Given the description of an element on the screen output the (x, y) to click on. 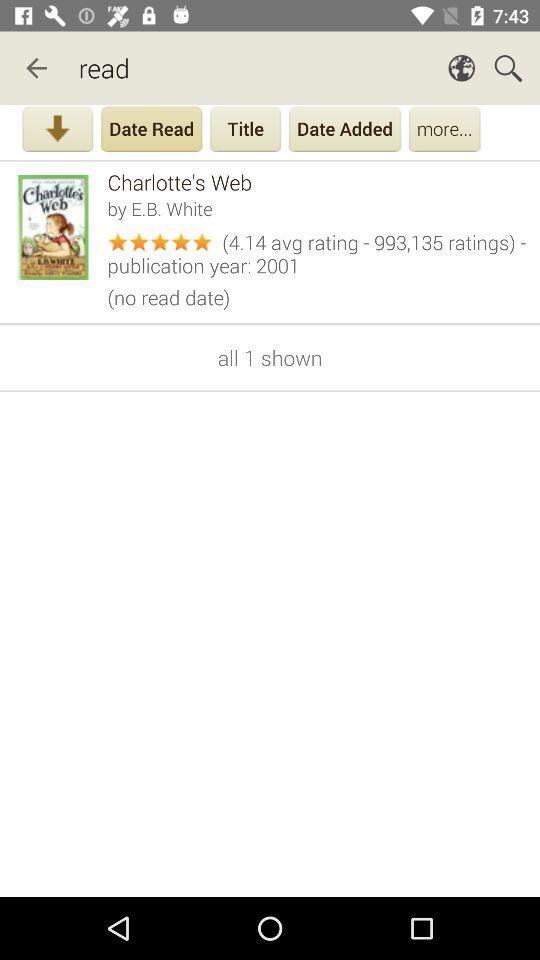
press the icon to the right of date added (444, 131)
